Given the description of an element on the screen output the (x, y) to click on. 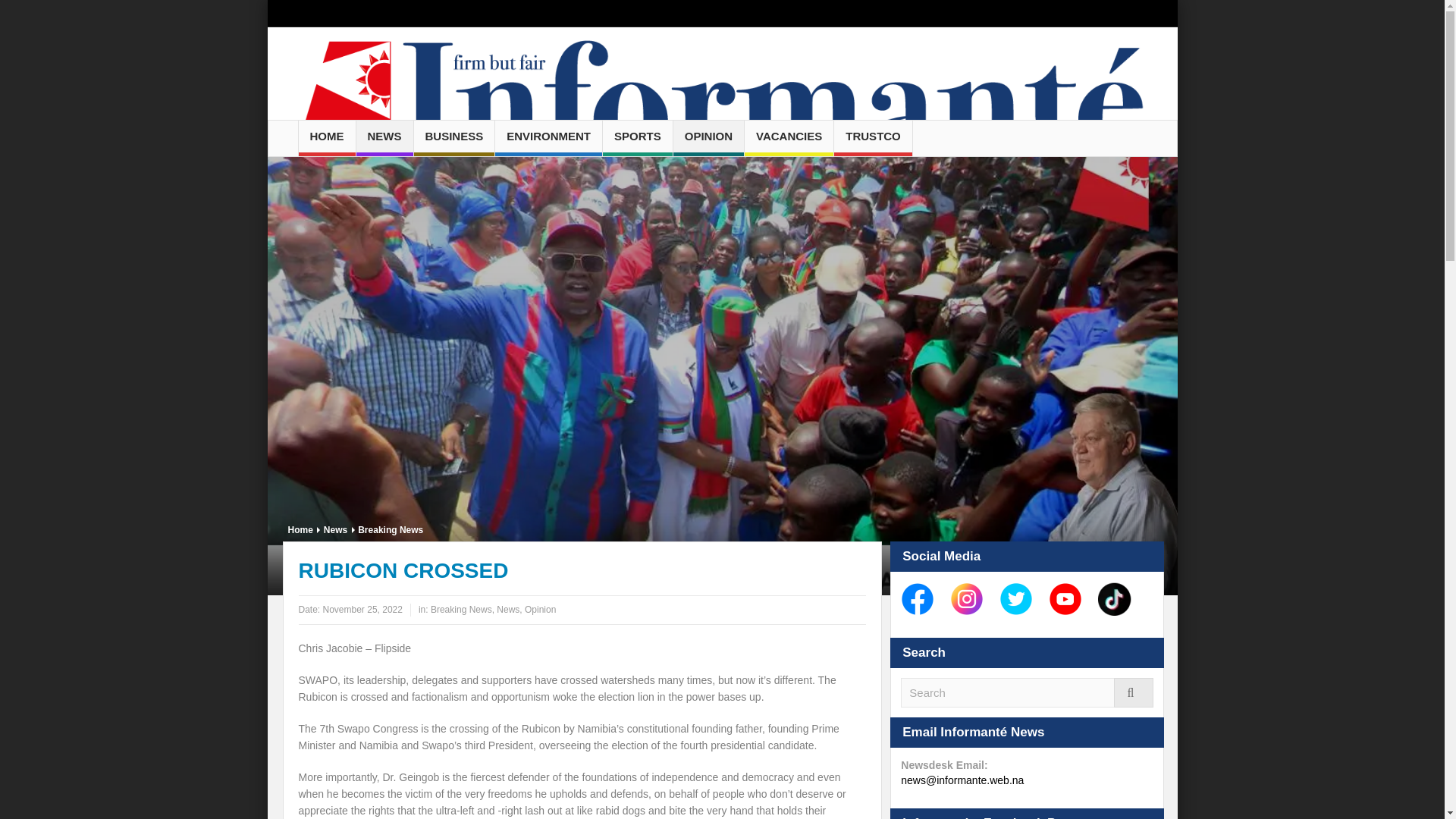
Home (299, 529)
TRUSTCO (873, 138)
Breaking News (390, 529)
Search (1027, 692)
ENVIRONMENT (548, 138)
BUSINESS (454, 138)
Search for: (1027, 692)
Breaking News (390, 529)
HOME (326, 138)
News (507, 609)
Search (1027, 692)
OPINION (708, 138)
Breaking News (461, 609)
News (335, 529)
Opinion (540, 609)
